Given the description of an element on the screen output the (x, y) to click on. 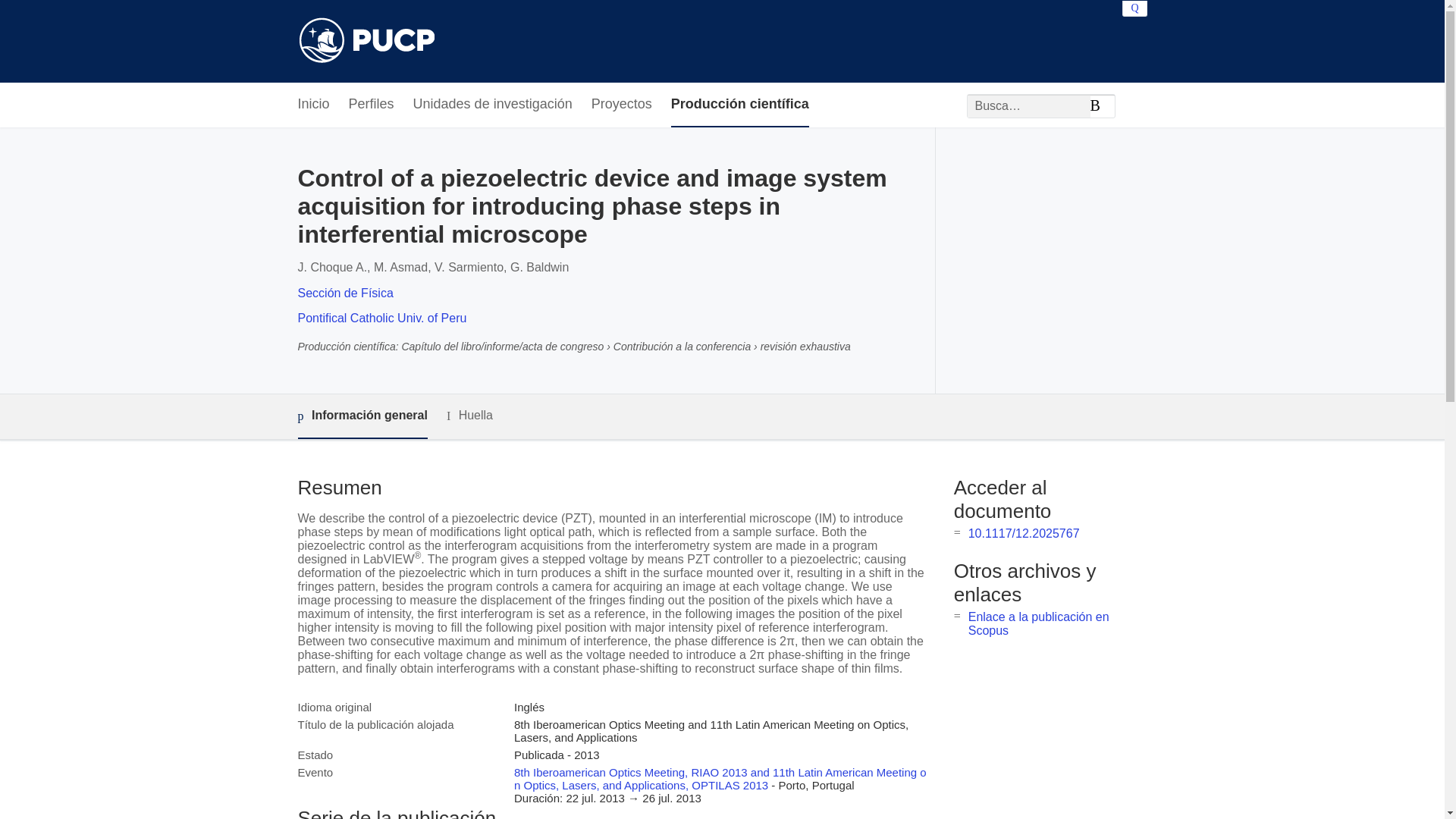
Perfiles (371, 104)
Proyectos (621, 104)
Huella (469, 415)
Pontifical Catholic Univ. of Peru (381, 318)
